Given the description of an element on the screen output the (x, y) to click on. 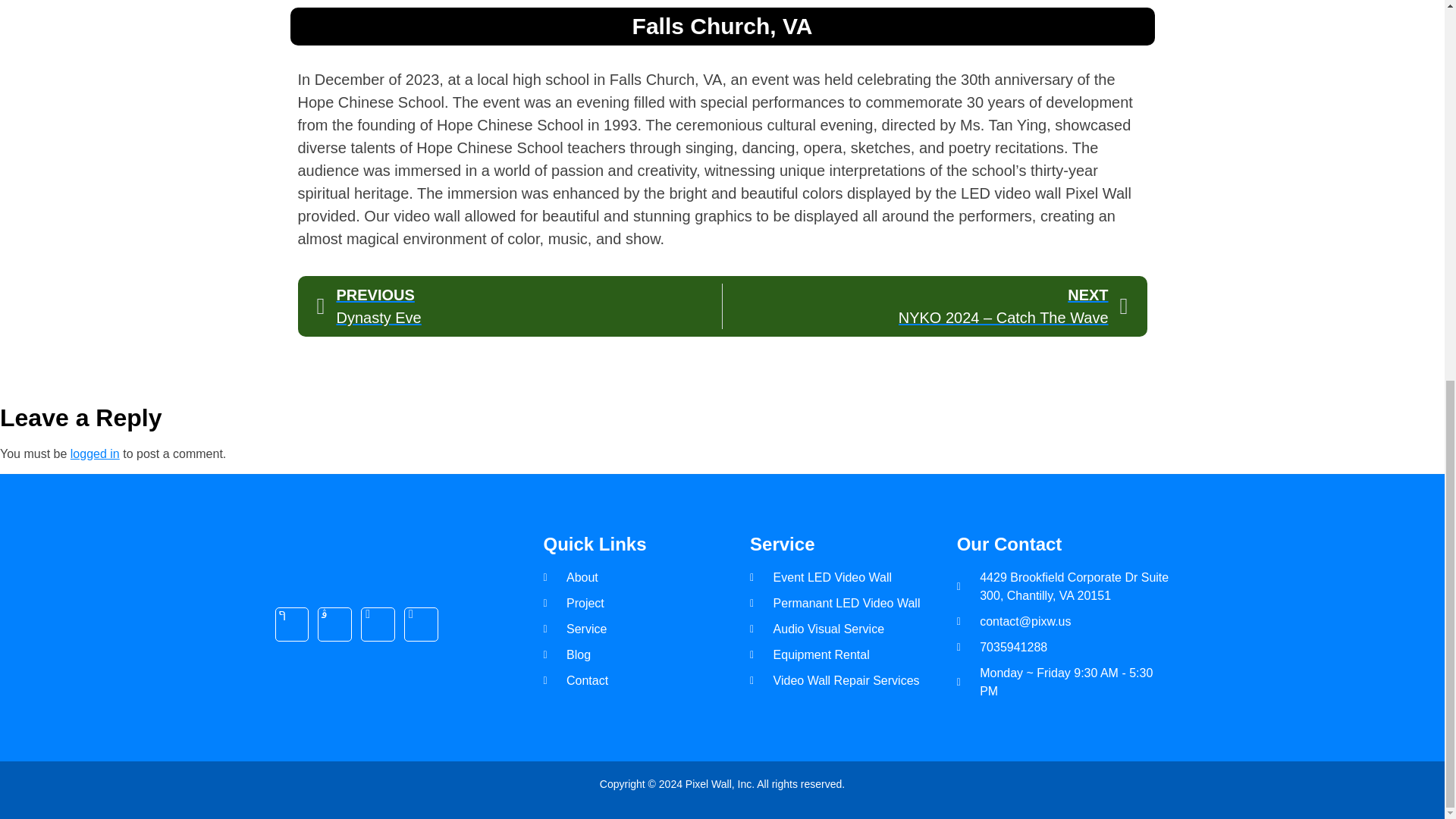
Video Wall Repair Services (852, 680)
Service (646, 628)
Blog (646, 655)
Project (646, 603)
Contact (646, 680)
logged in (94, 453)
Equipment Rental (852, 655)
Event LED Video Wall (852, 577)
Audio Visual Service (852, 628)
